Given the description of an element on the screen output the (x, y) to click on. 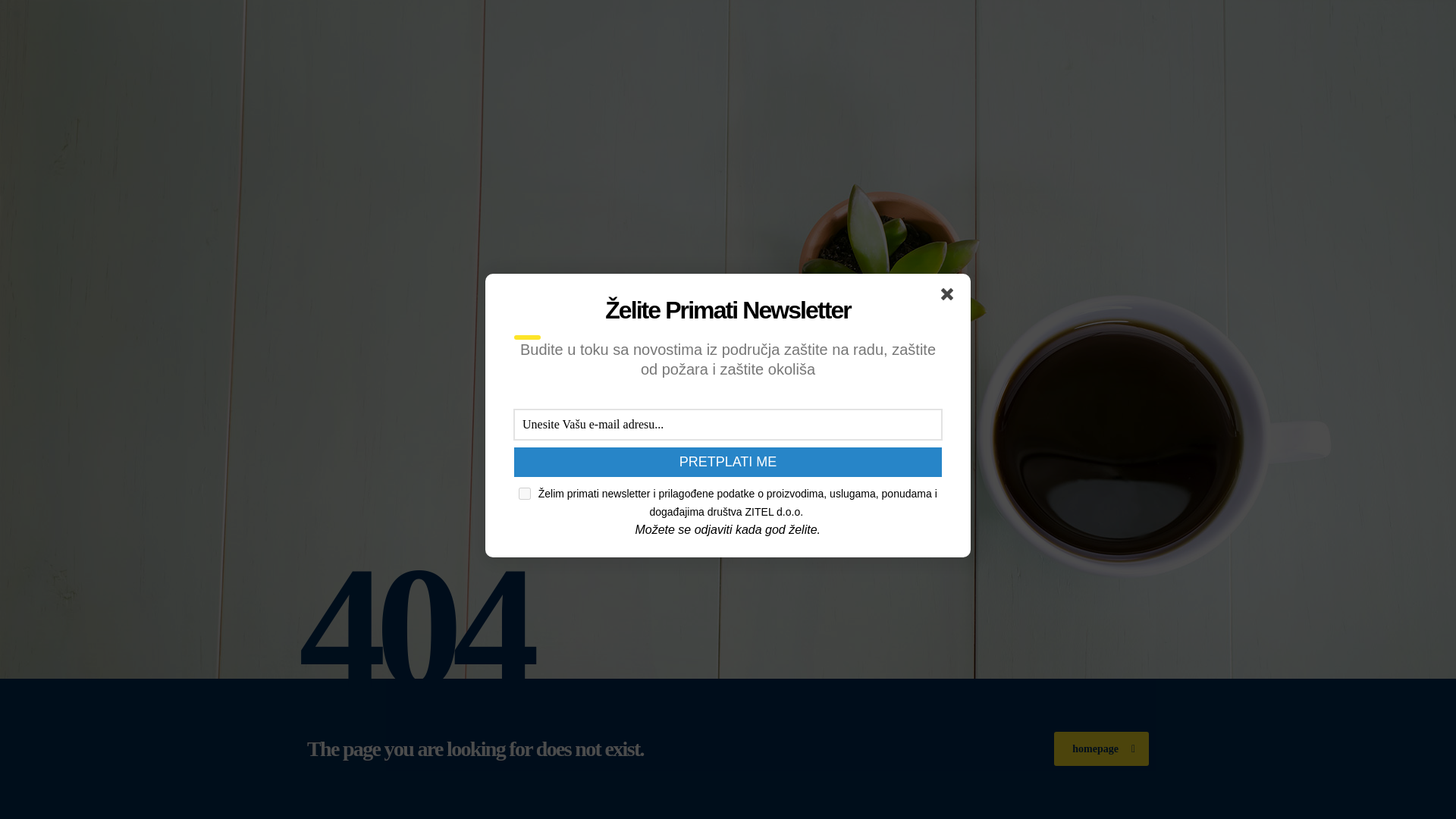
Pretplati me (727, 461)
Pretplati me (727, 461)
homepage (1101, 748)
Close optin form (949, 297)
yes (524, 493)
Take Action Now! (240, 14)
